Given the description of an element on the screen output the (x, y) to click on. 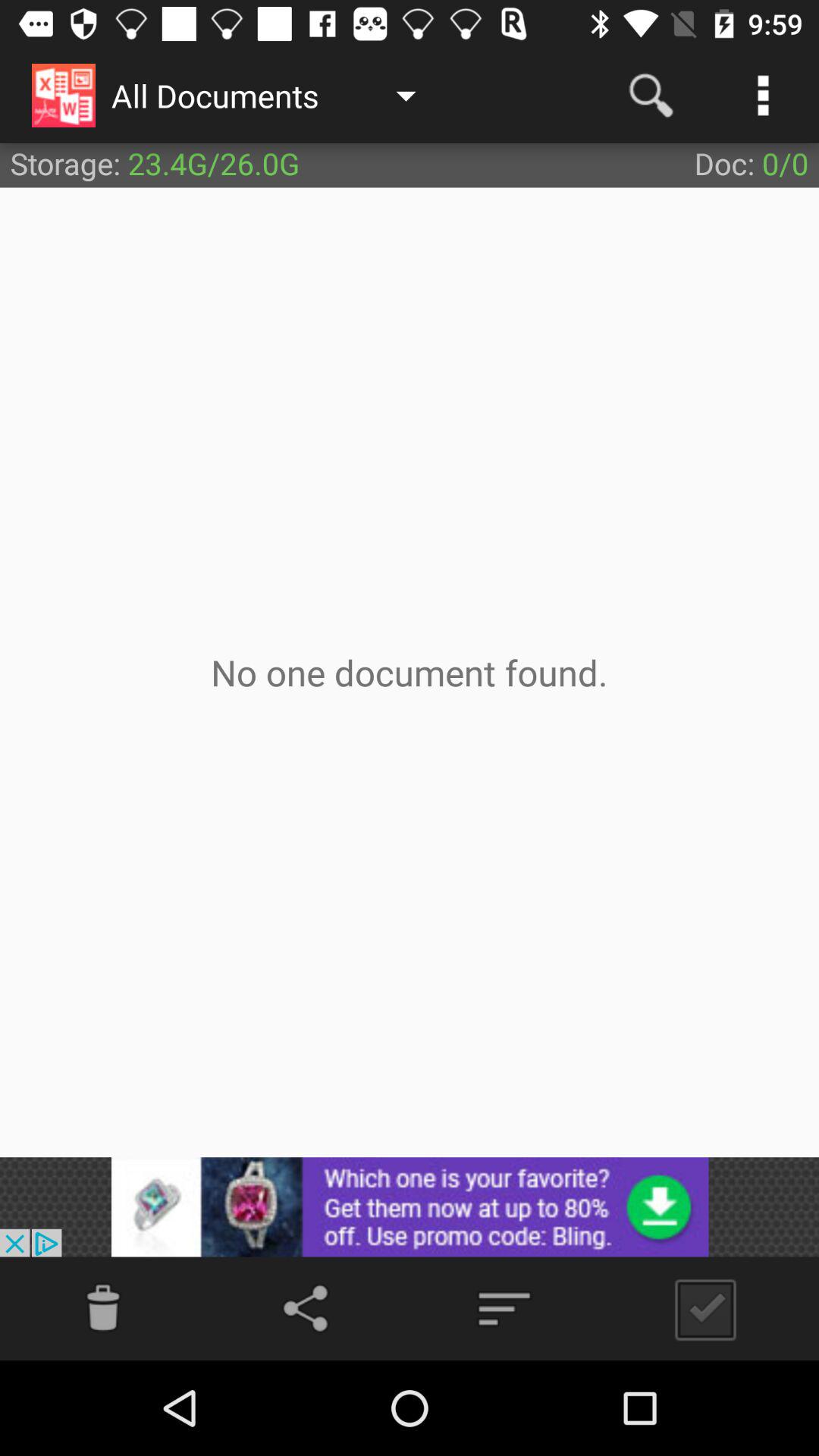
share the article (308, 1308)
